Given the description of an element on the screen output the (x, y) to click on. 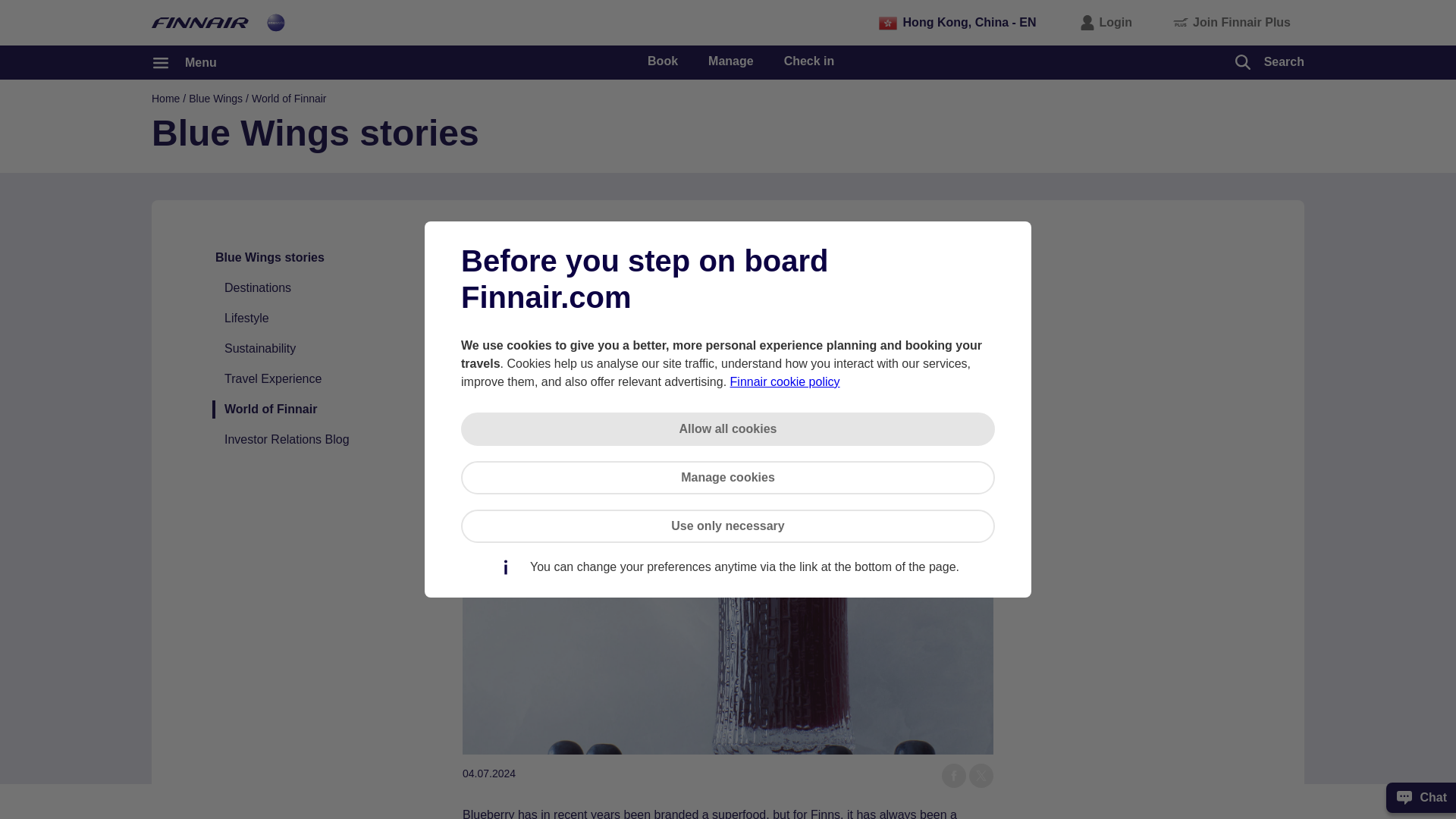
Manage (730, 61)
Search (1268, 61)
Menu (183, 62)
Book (662, 61)
Hong Kong, China - EN (957, 22)
Login (1107, 22)
Check in (809, 61)
Join Finnair Plus (1232, 22)
